Given the description of an element on the screen output the (x, y) to click on. 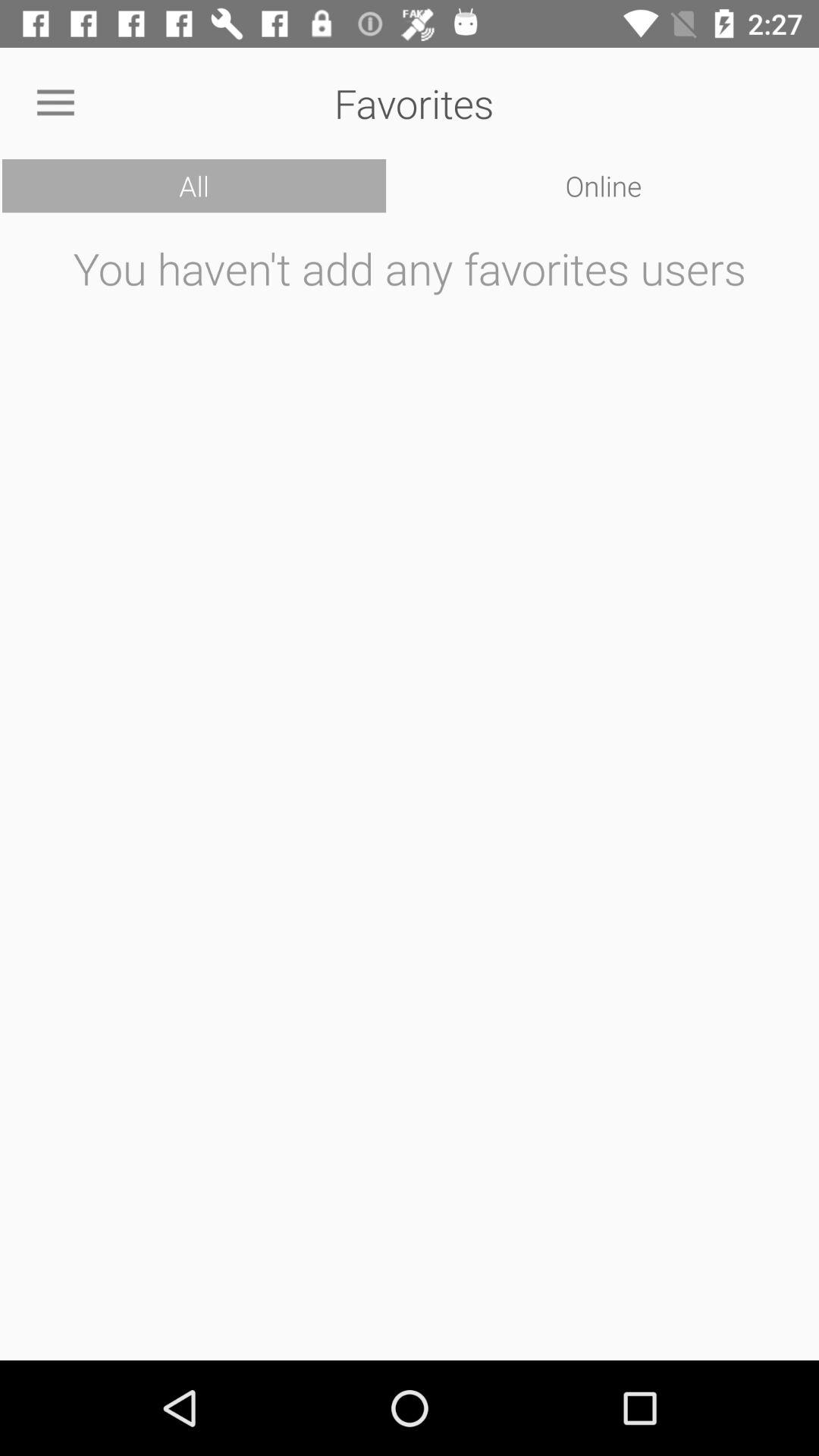
turn on the icon above all icon (55, 103)
